Given the description of an element on the screen output the (x, y) to click on. 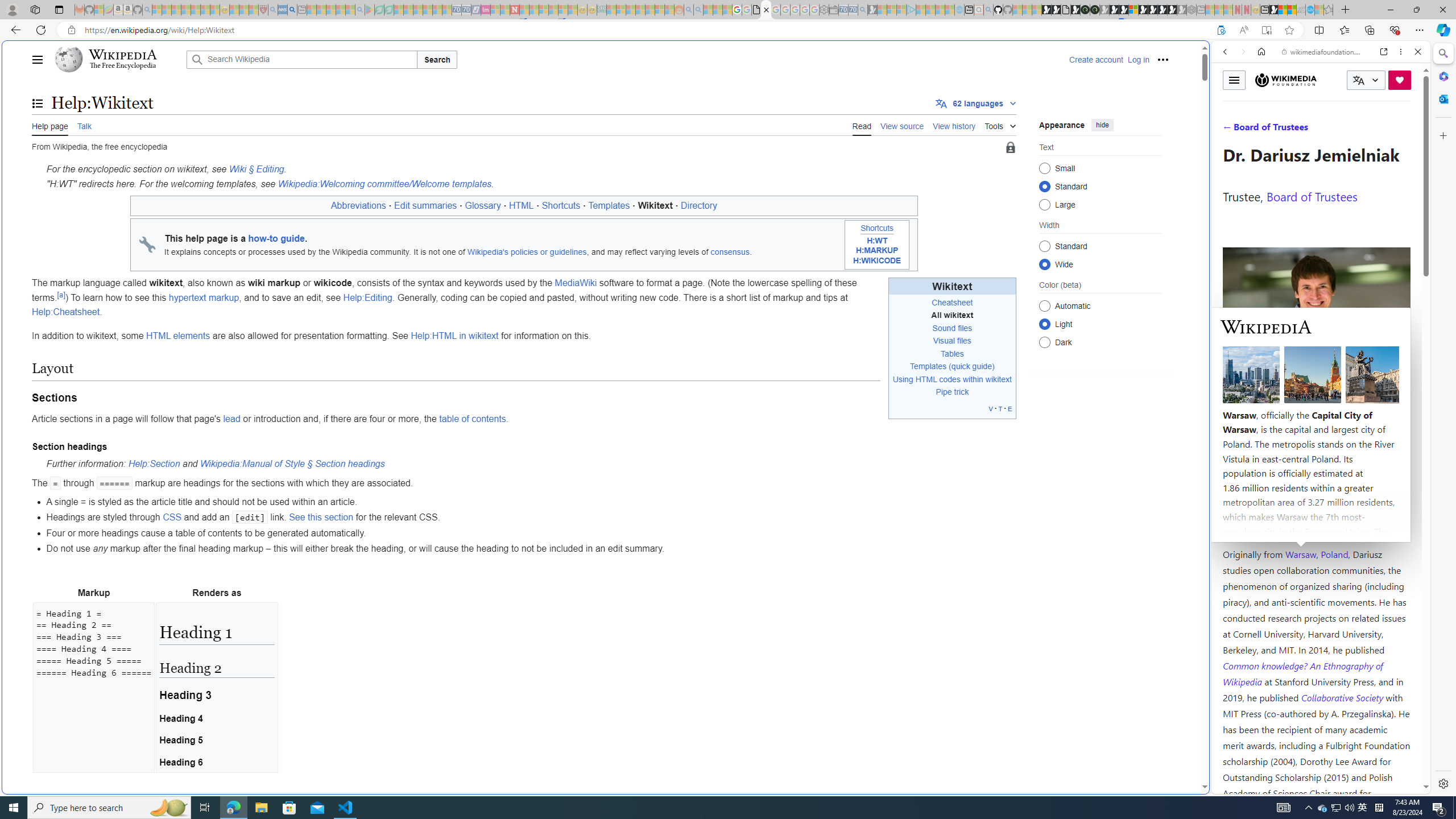
New Report Confirms 2023 Was Record Hot | Watch - Sleeping (195, 9)
MSN (1272, 9)
Tabs you've opened (885, 151)
Talk (84, 124)
View source (902, 124)
Search Filter, IMAGES (1262, 129)
Global web icon (1232, 786)
